Given the description of an element on the screen output the (x, y) to click on. 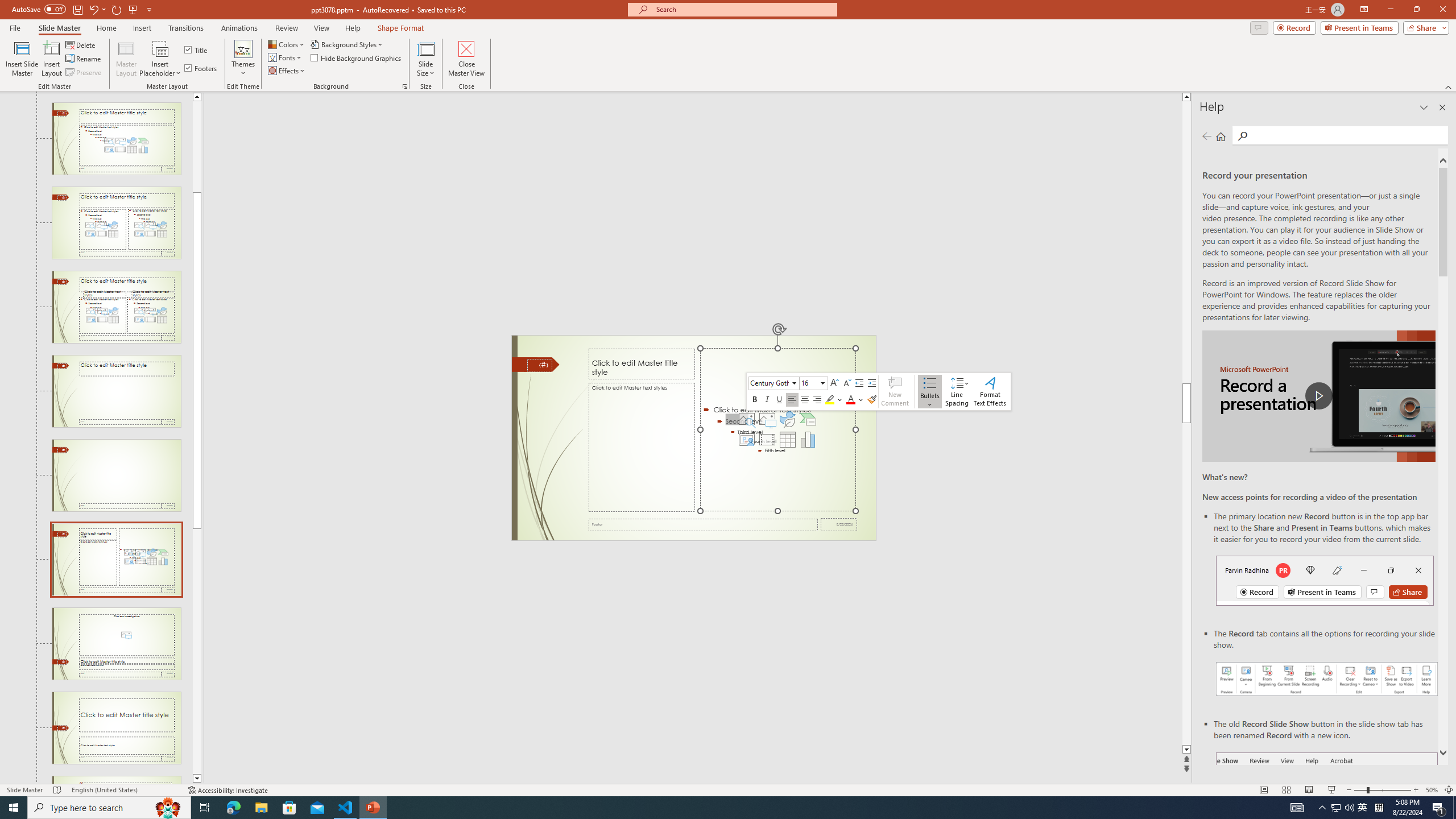
Class: NetUIComboboxAnchor (813, 382)
Master Layout... (126, 58)
Insert Chart (807, 439)
Freeform 11 (535, 364)
Format Background... (404, 85)
Preserve (84, 72)
